Given the description of an element on the screen output the (x, y) to click on. 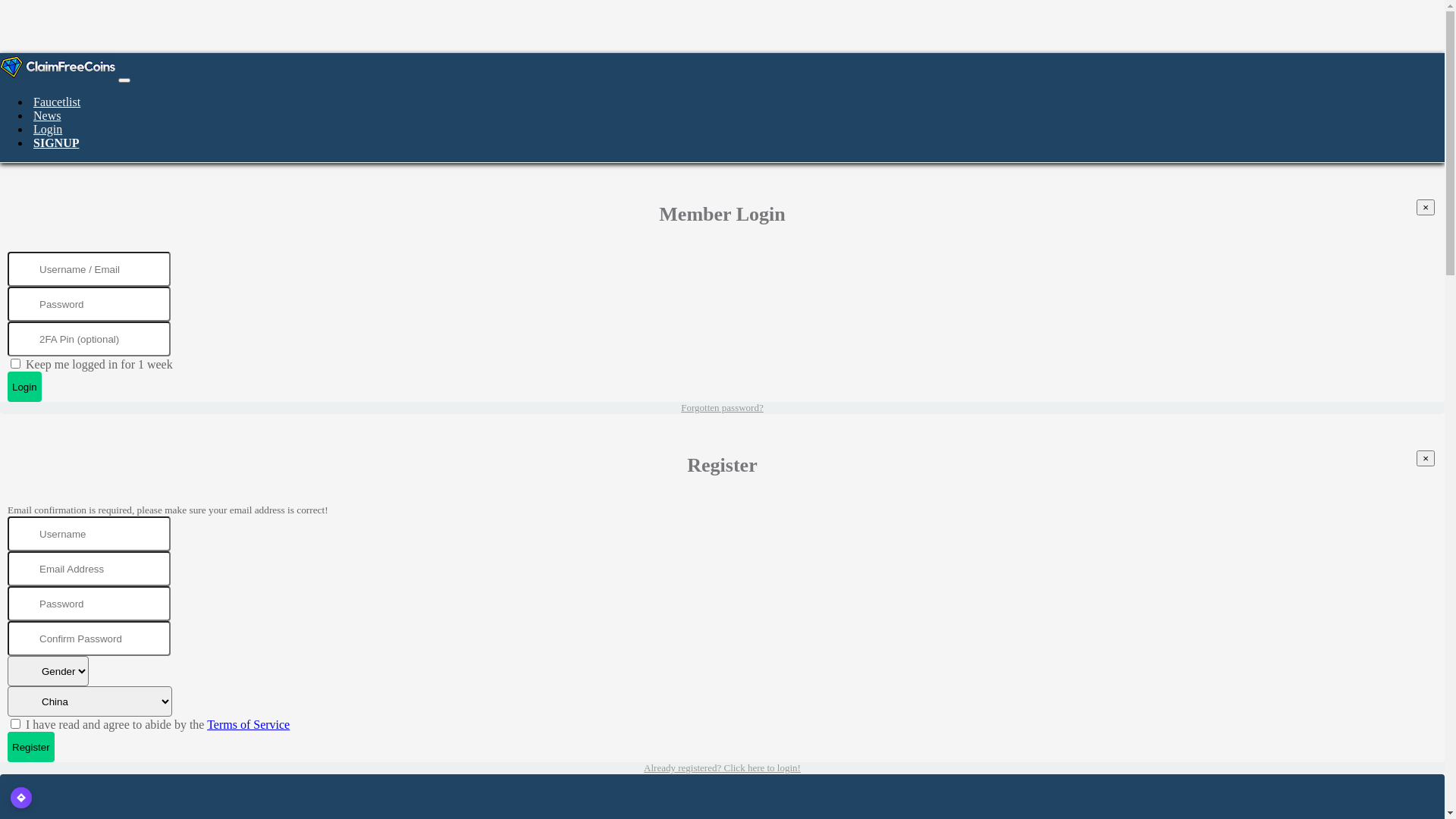
Login Element type: text (24, 386)
Already registered? Click here to login! Element type: text (721, 767)
Register Element type: text (30, 746)
Login Element type: text (47, 128)
Arc.io Widget Launcher Element type: hover (21, 797)
Forgotten password? Element type: text (721, 407)
SIGNUP Element type: text (55, 142)
Terms of Service Element type: text (248, 724)
News Element type: text (46, 115)
Faucetlist Element type: text (56, 101)
ClaimFreeCoins Element type: hover (57, 66)
